Given the description of an element on the screen output the (x, y) to click on. 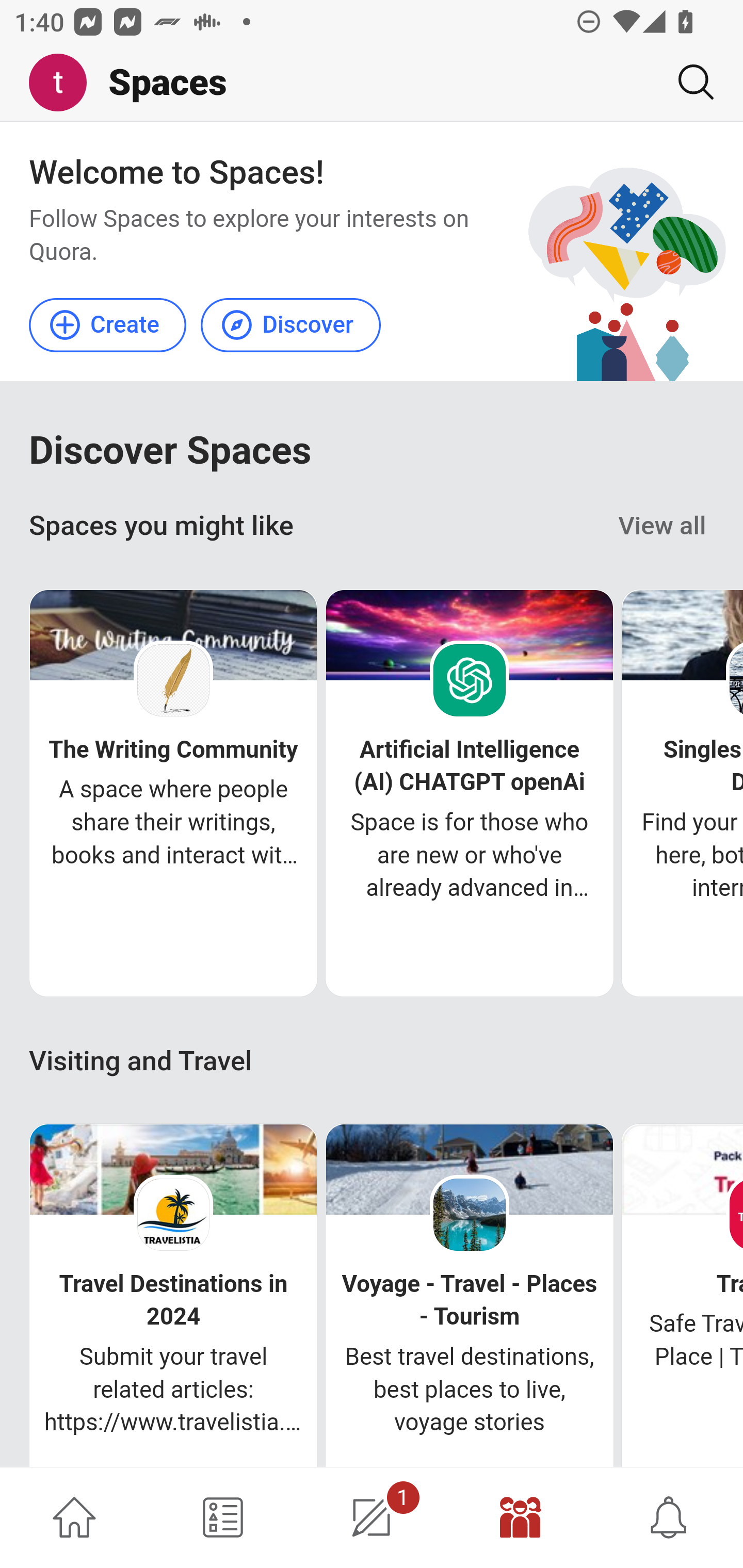
Me (64, 83)
Search (688, 82)
Create (107, 324)
Discover (289, 324)
View all (662, 525)
The Writing Community (172, 750)
Artificial Intelligence (AI) CHATGPT openAi (469, 766)
Travel Destinations in 2024 (173, 1300)
Voyage - Travel - Places - Tourism (469, 1300)
1 (371, 1517)
